Given the description of an element on the screen output the (x, y) to click on. 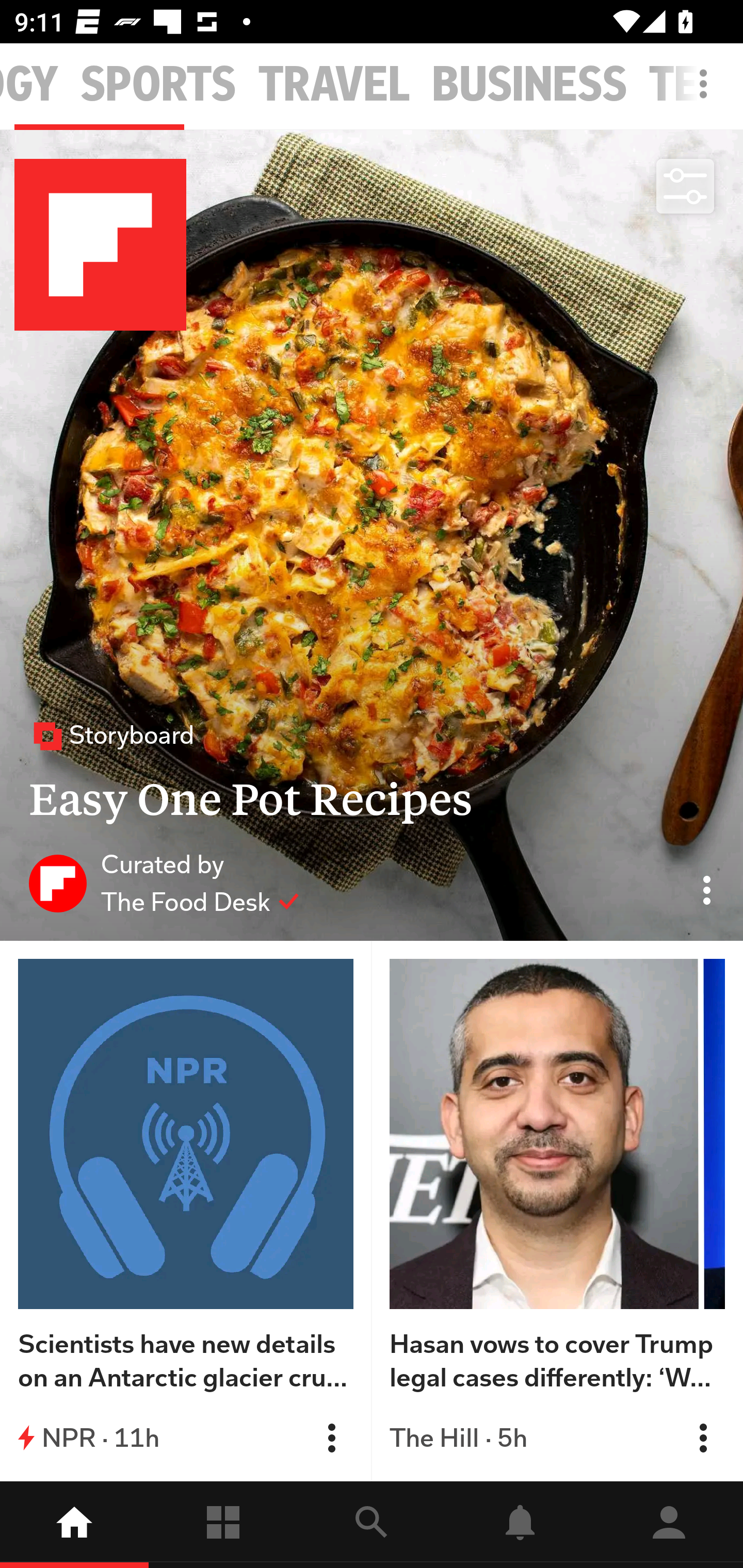
SPORTS (158, 84)
TRAVEL (334, 84)
BUSINESS (529, 84)
More options (706, 93)
Curated by The Food Desk (163, 882)
NPR · 11h Flip into Magazine (185, 1437)
The Hill · 5h Flip into Magazine (557, 1437)
Flip into Magazine (331, 1437)
Flip into Magazine (703, 1437)
home (74, 1524)
Following (222, 1524)
explore (371, 1524)
Notifications (519, 1524)
Profile (668, 1524)
